Given the description of an element on the screen output the (x, y) to click on. 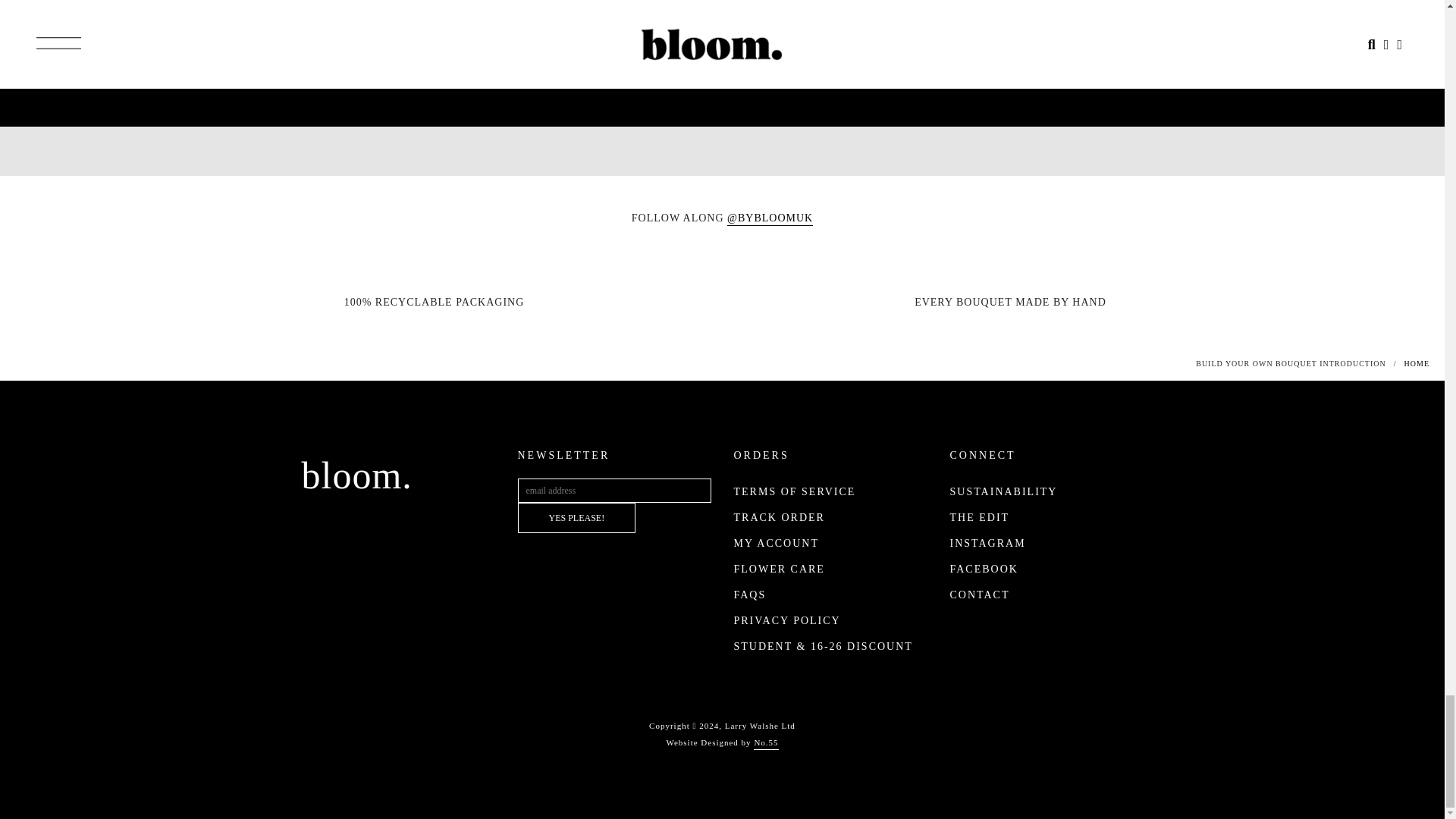
FLOWER CARE (779, 568)
TERMS OF SERVICE (794, 491)
MY ACCOUNT (775, 542)
TRACK ORDER (779, 517)
YES PLEASE! (575, 517)
YES PLEASE! (575, 517)
HOME (1417, 363)
FAQS (750, 594)
PRIVACY POLICY (787, 620)
